Given the description of an element on the screen output the (x, y) to click on. 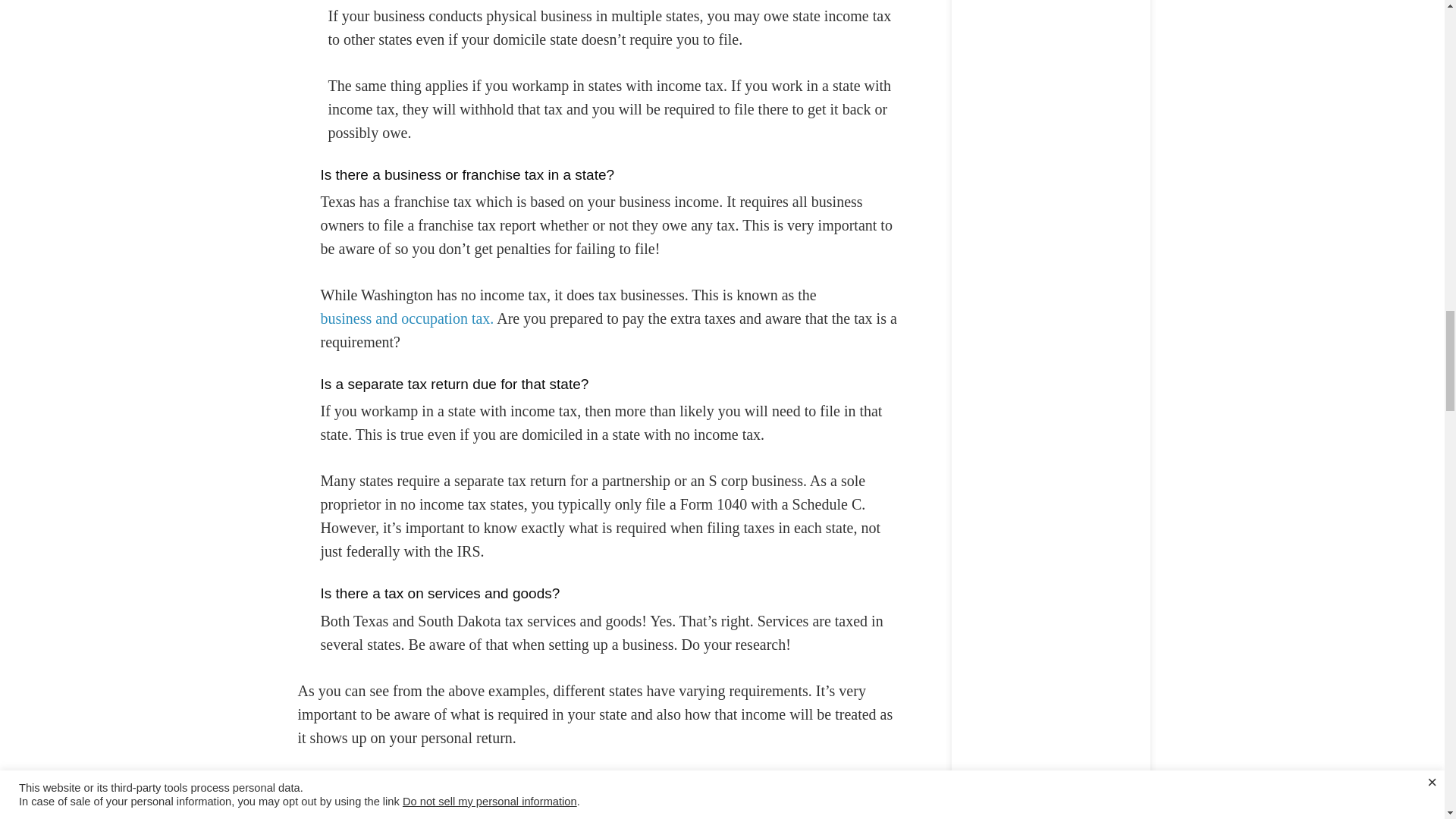
business and occupation tax. (406, 318)
